Given the description of an element on the screen output the (x, y) to click on. 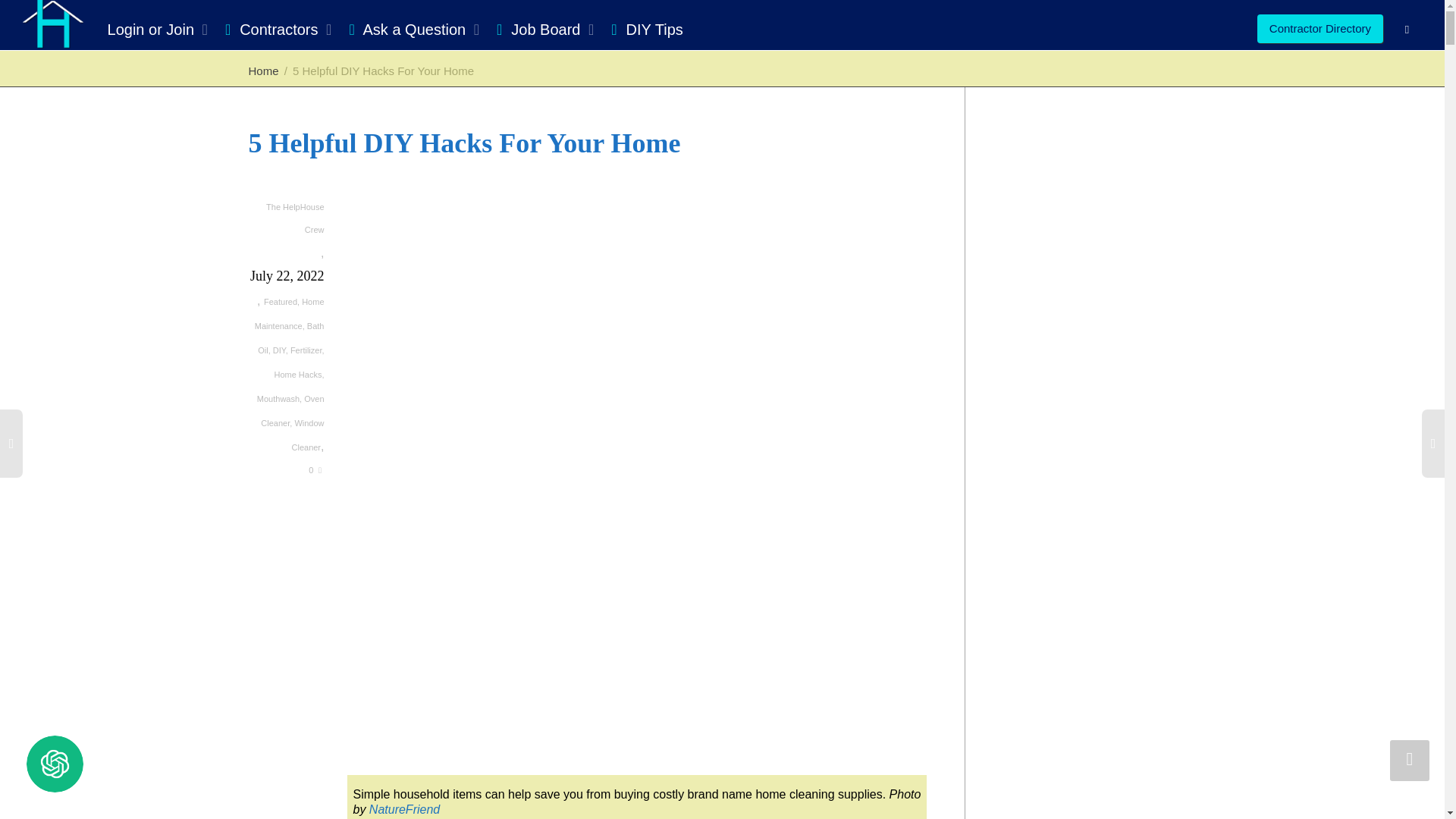
Login or Join (154, 28)
Contractors (273, 28)
Login or Join (154, 28)
